Given the description of an element on the screen output the (x, y) to click on. 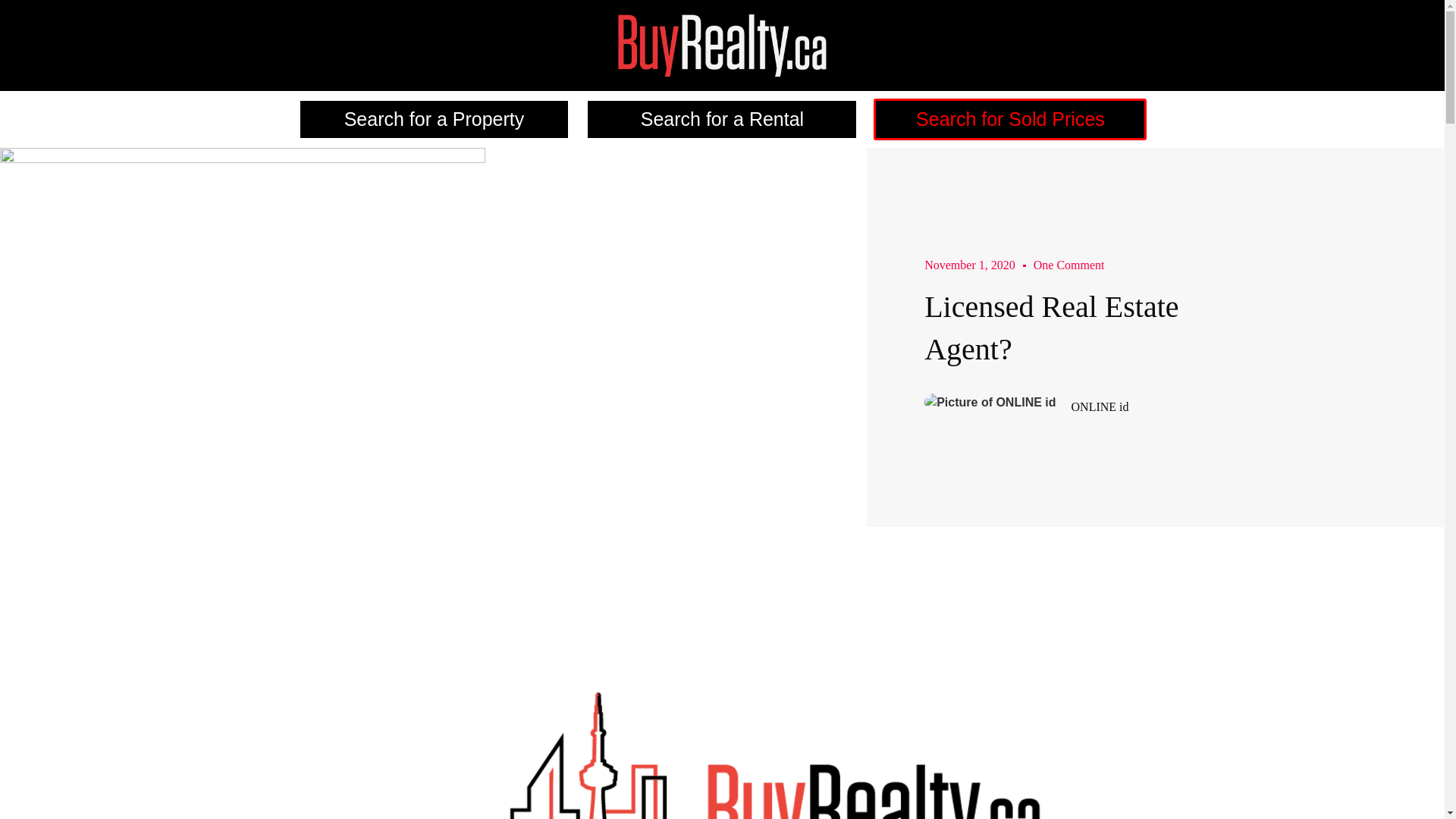
Search for Sold Prices (1010, 119)
One Comment (1069, 265)
Search for a Property (433, 119)
November 1, 2020 (969, 265)
Search for a Rental (722, 119)
